Given the description of an element on the screen output the (x, y) to click on. 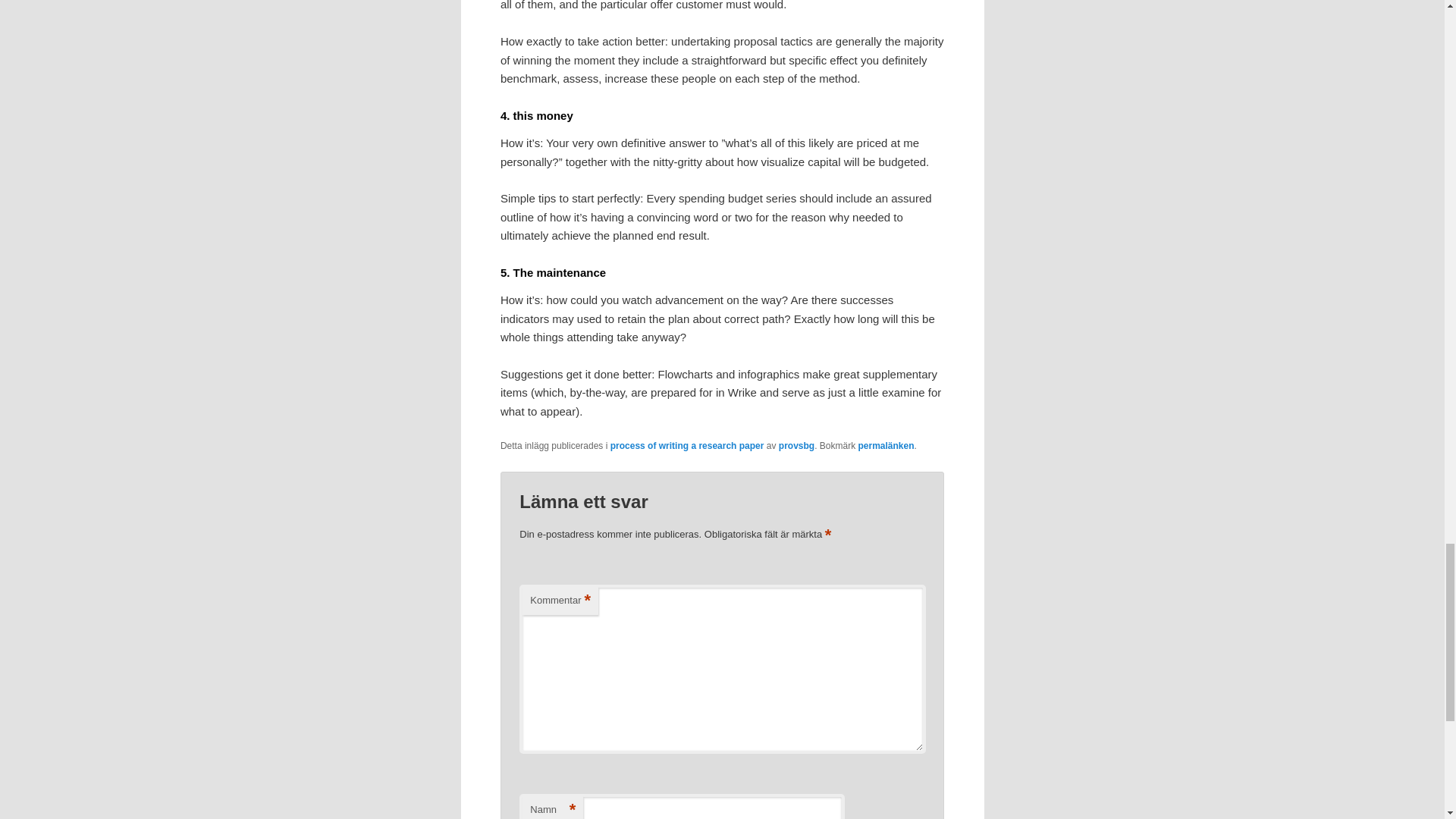
provsbg (795, 445)
process of writing a research paper (687, 445)
